Given the description of an element on the screen output the (x, y) to click on. 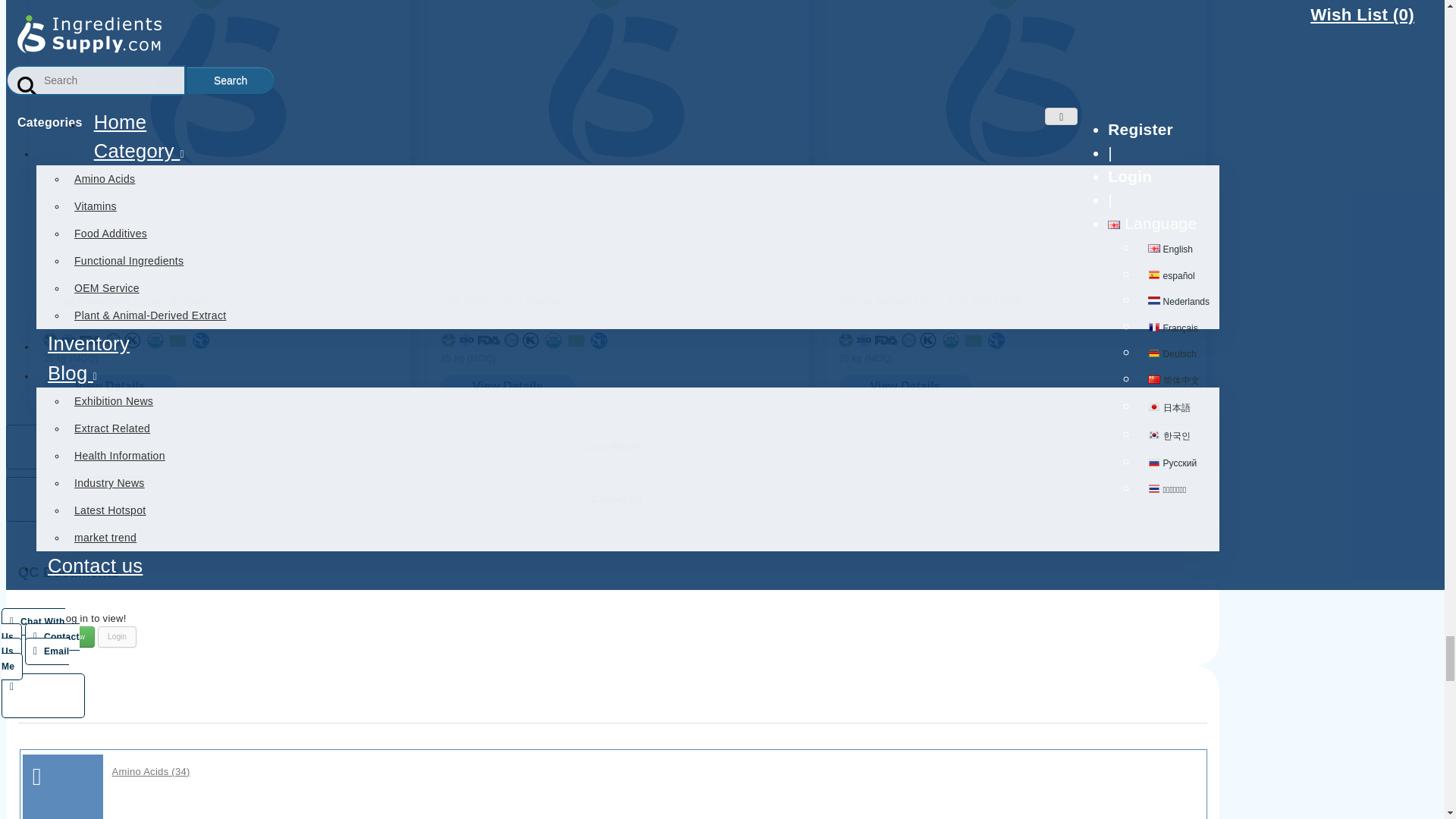
Login (116, 636)
